Given the description of an element on the screen output the (x, y) to click on. 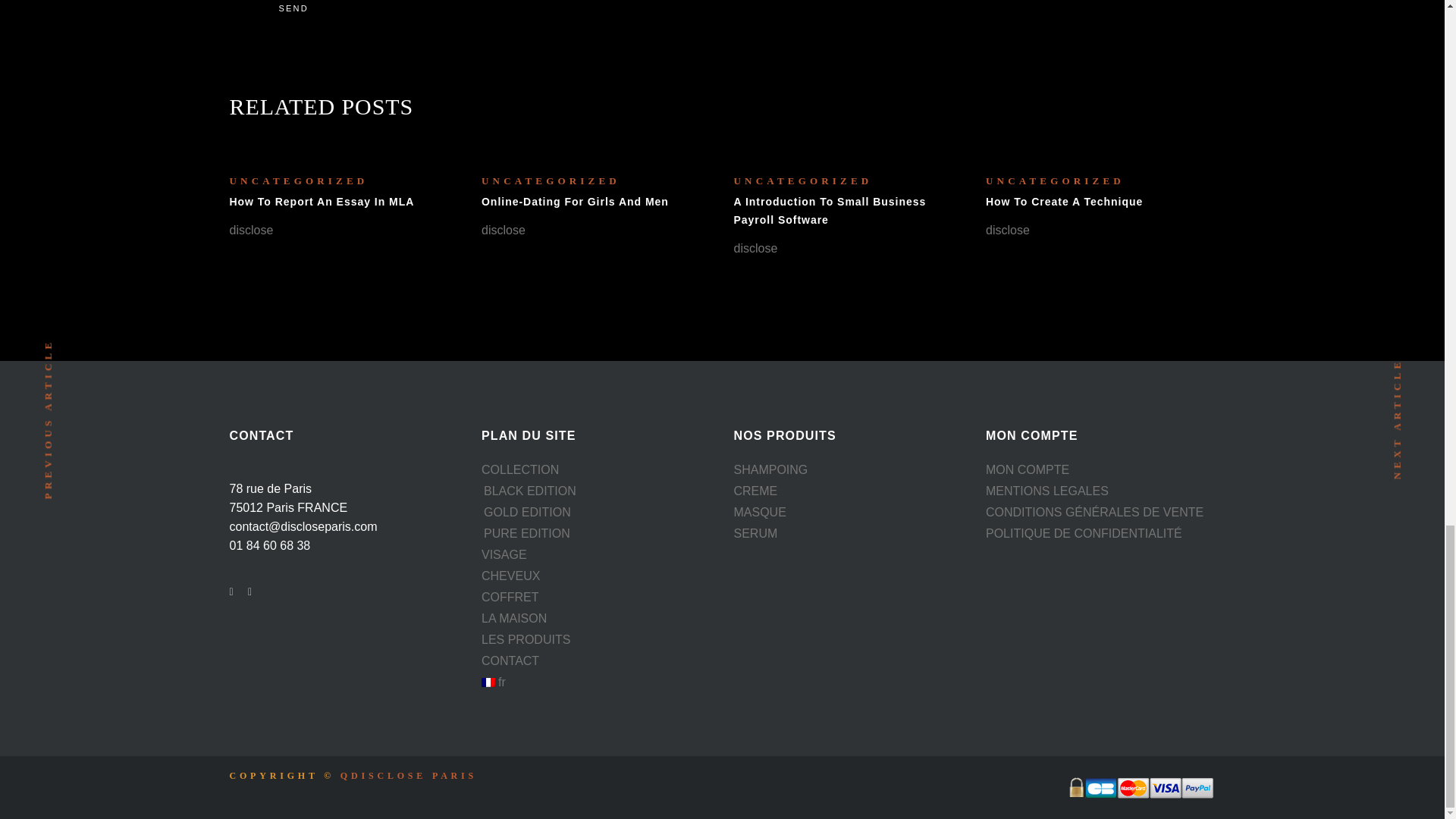
How to Report an Essay in MLA (320, 201)
How to Create a Technique (1063, 201)
Online-dating For Girls and Men (574, 201)
A Introduction to Small Business Payroll Software (829, 210)
